Given the description of an element on the screen output the (x, y) to click on. 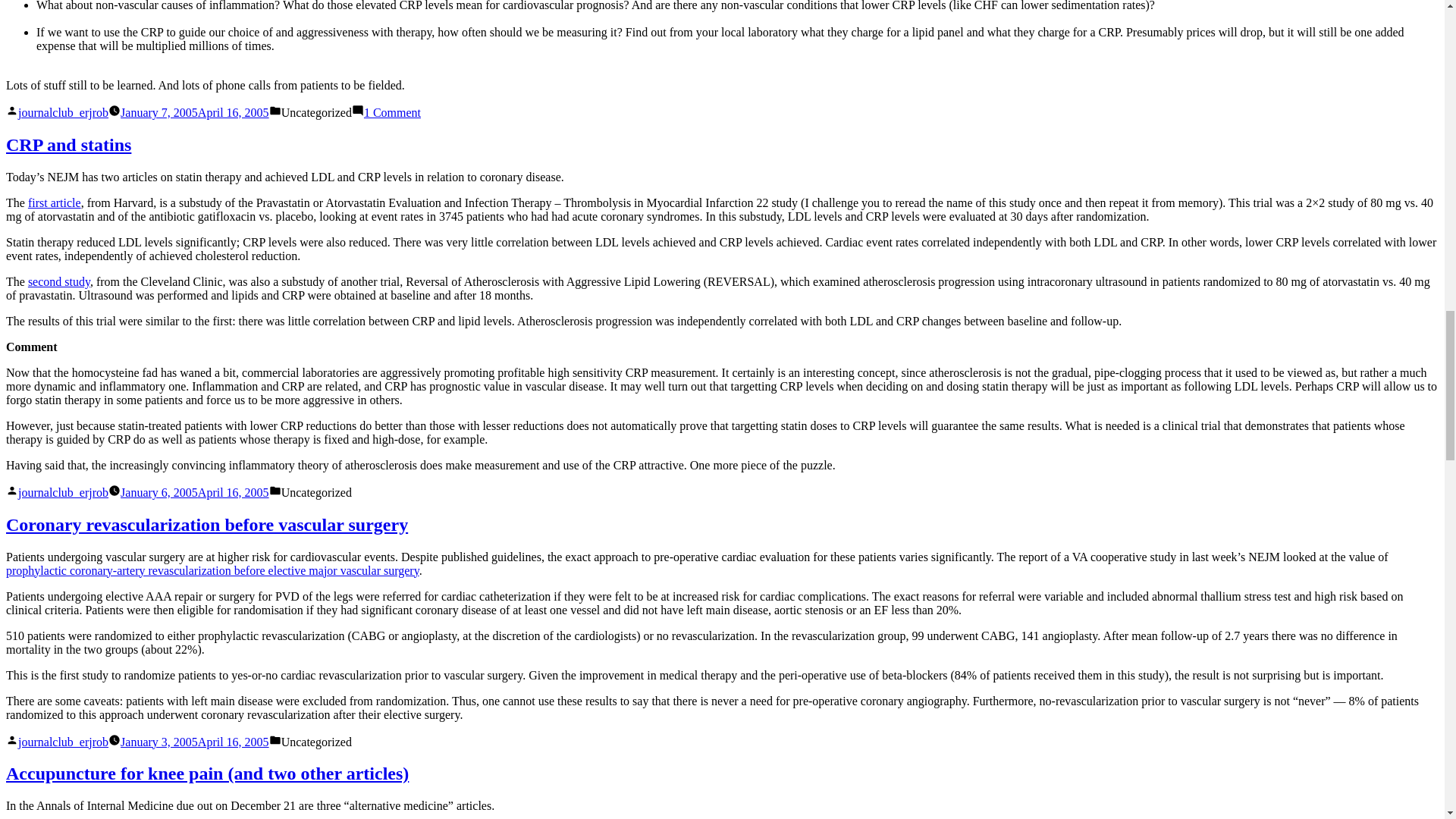
second study (58, 281)
first article (54, 202)
Coronary revascularization before vascular surgery (206, 524)
January 7, 2005April 16, 2005 (194, 112)
CRP and statins (68, 144)
January 6, 2005April 16, 2005 (392, 112)
